Given the description of an element on the screen output the (x, y) to click on. 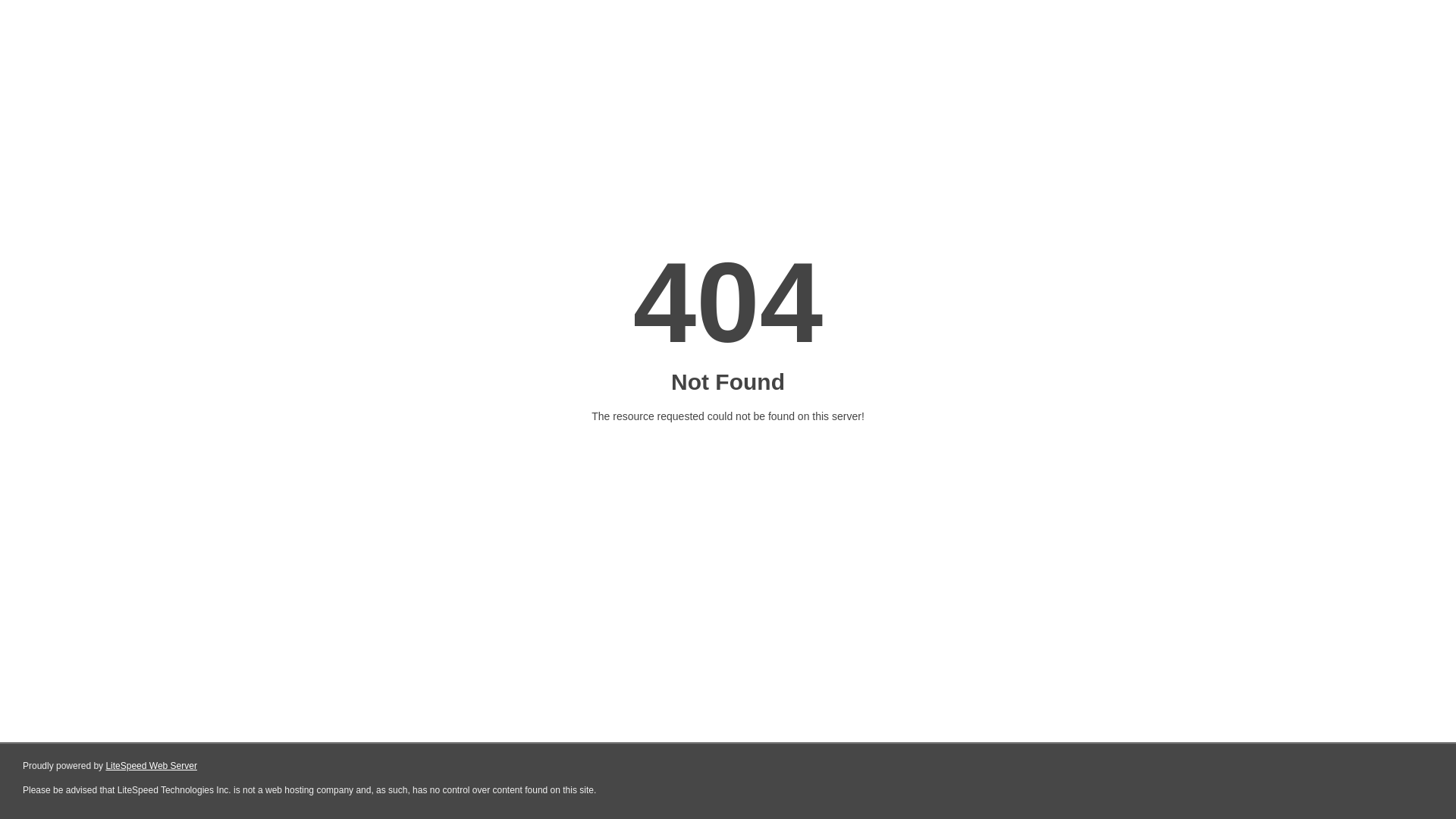
LiteSpeed Web Server Element type: text (151, 765)
